Given the description of an element on the screen output the (x, y) to click on. 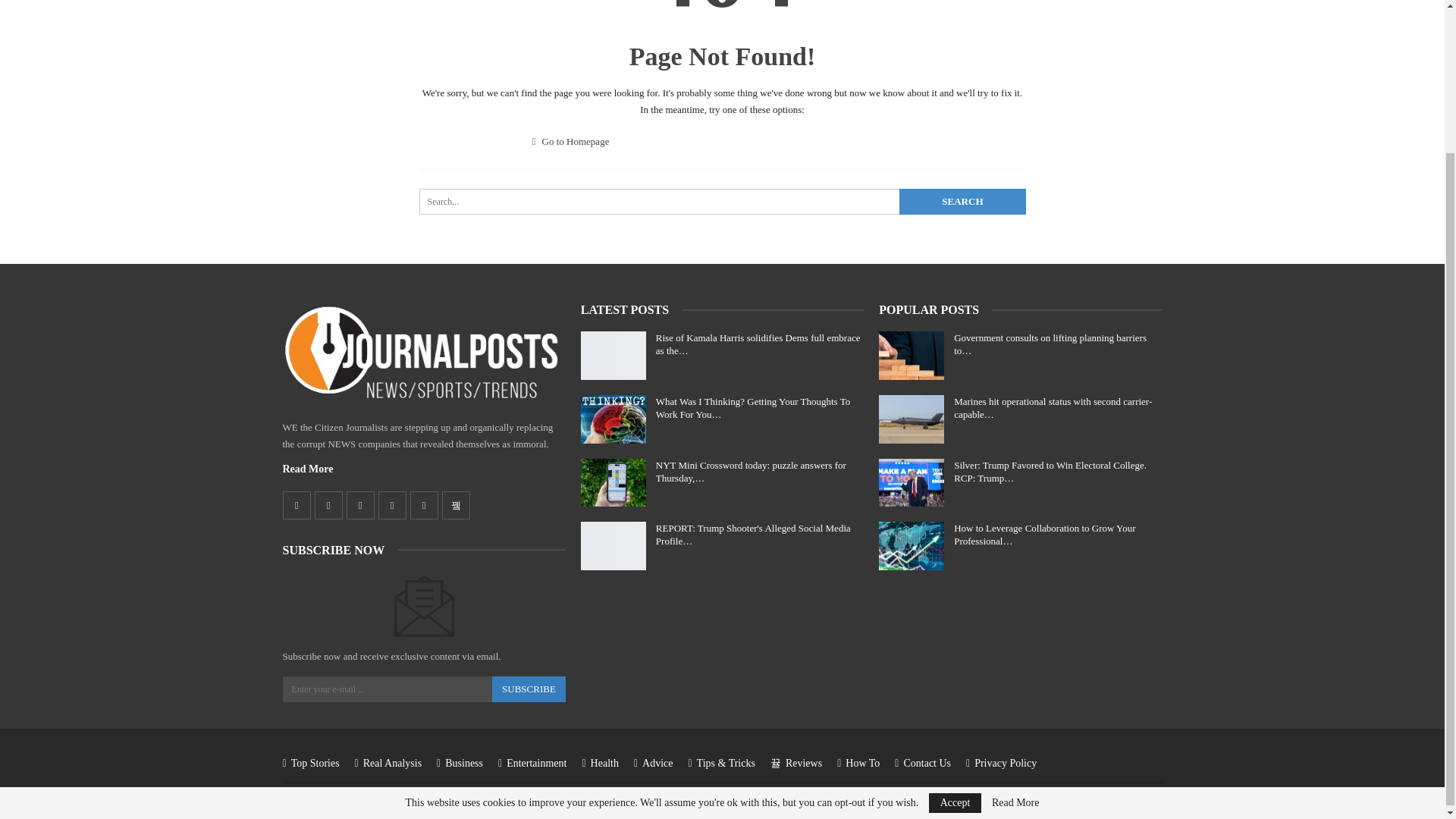
Search for: (722, 201)
Read More (307, 469)
Search (962, 201)
Go to Homepage (571, 141)
Search (962, 201)
Search (962, 201)
